Given the description of an element on the screen output the (x, y) to click on. 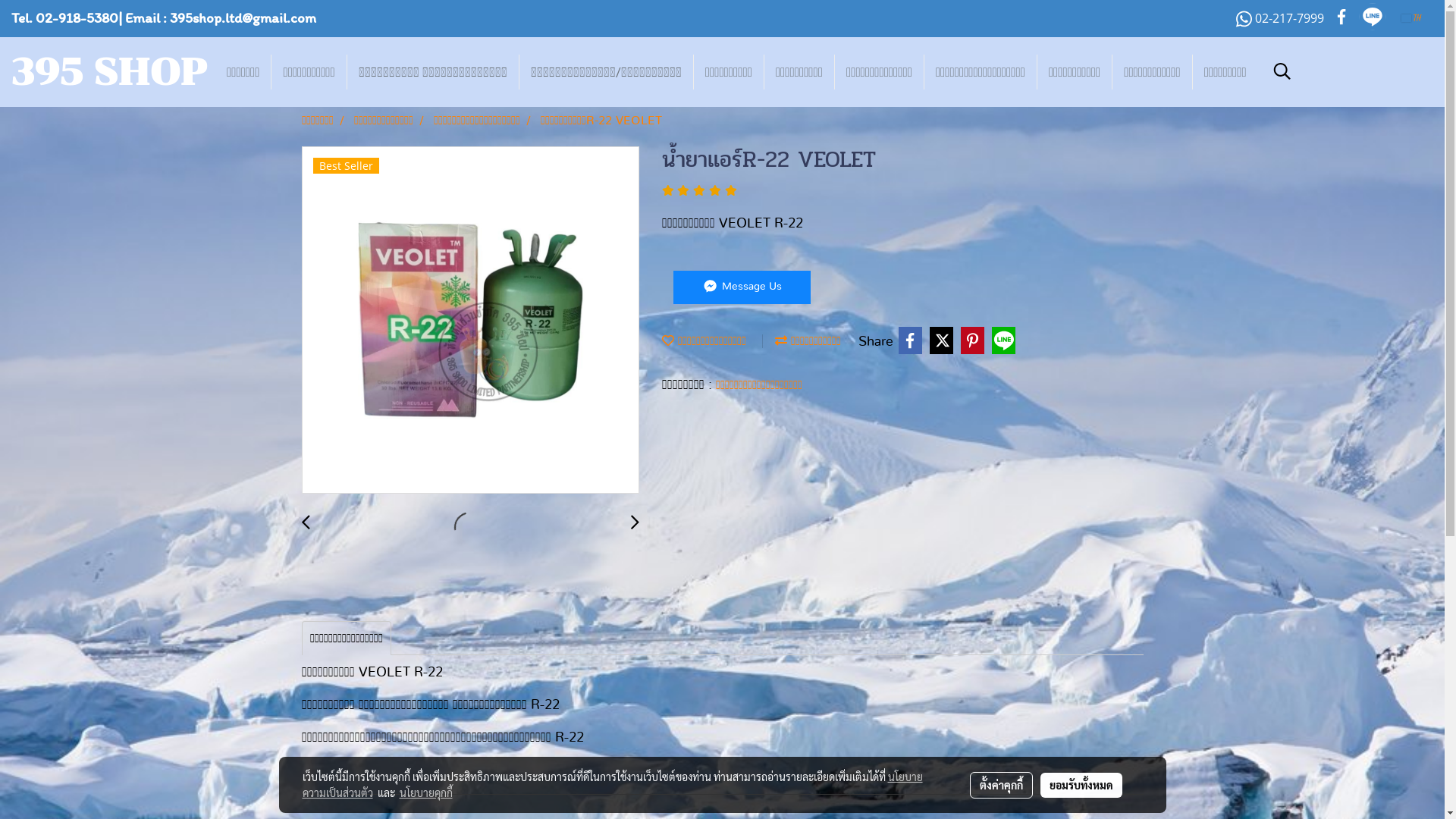
Message Us Element type: text (742, 286)
02-217-7999 Element type: text (1280, 17)
395 SHOP Element type: text (109, 80)
TH Element type: text (1411, 18)
